Given the description of an element on the screen output the (x, y) to click on. 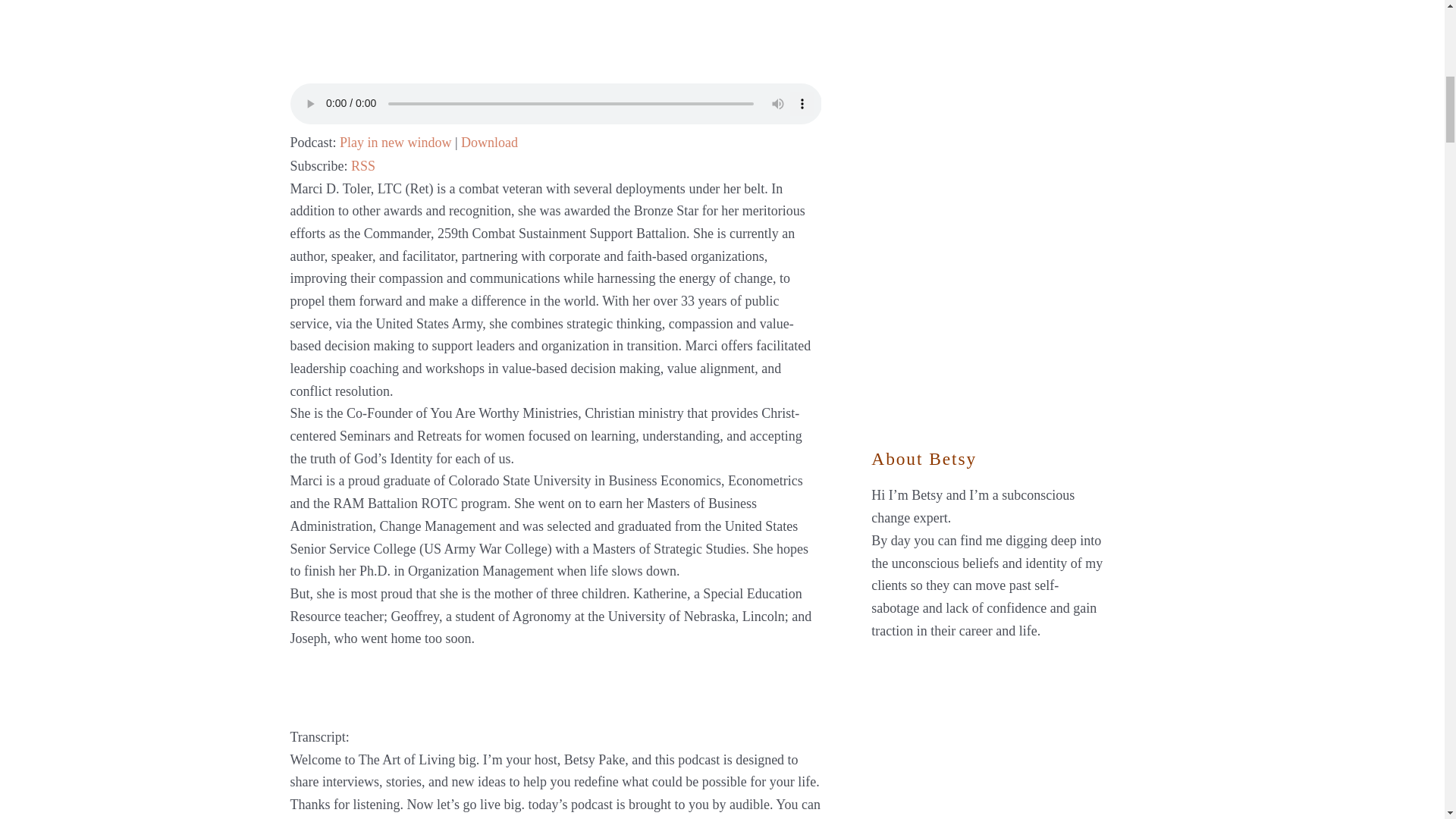
Download (489, 142)
Subscribe via RSS (362, 165)
Download (489, 142)
Play in new window (395, 142)
RSS (362, 165)
Play in new window (395, 142)
